Given the description of an element on the screen output the (x, y) to click on. 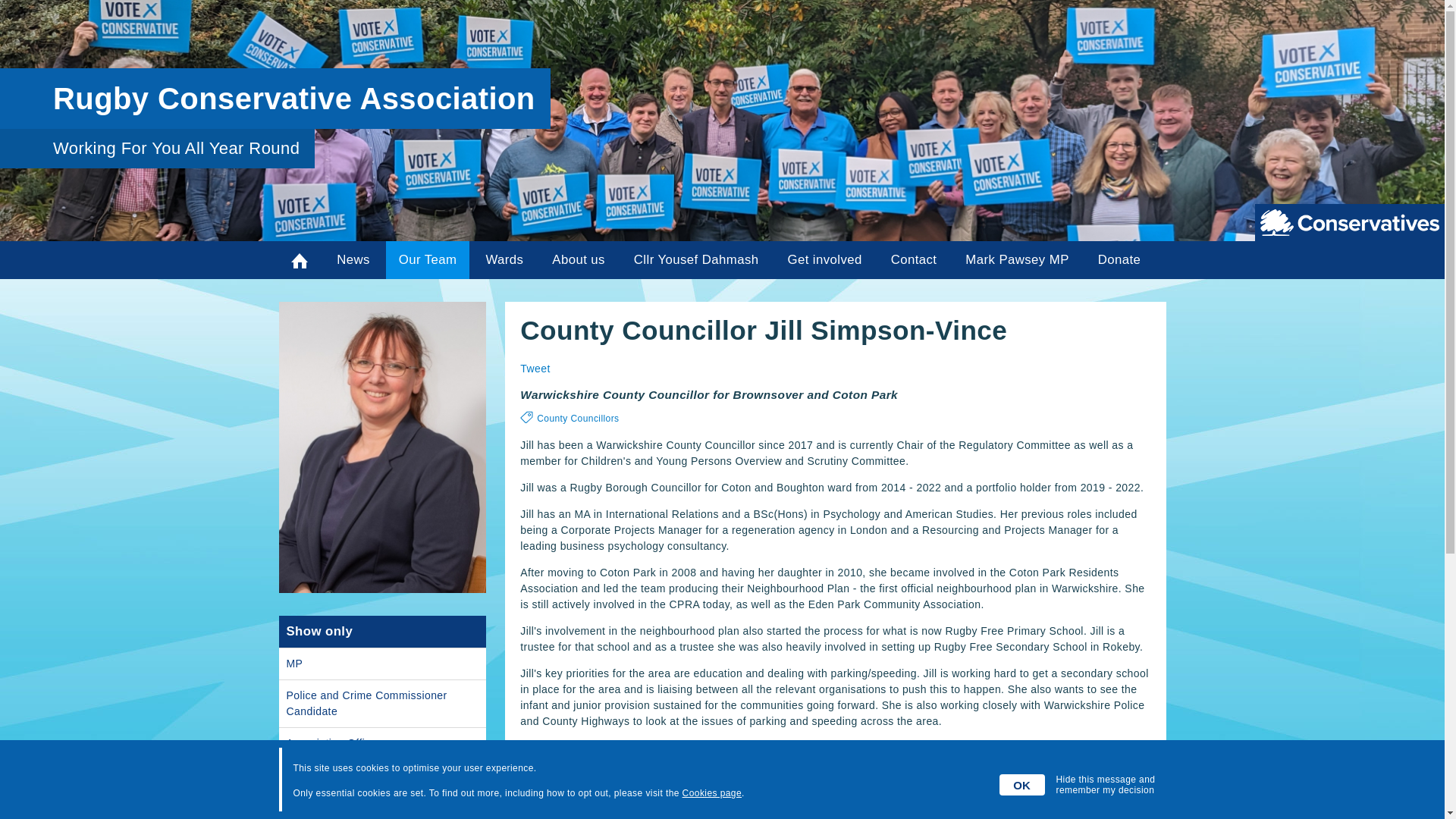
Borough Councillors (382, 805)
OK (1021, 784)
Cookies page (711, 792)
Wards (505, 259)
Home (300, 259)
Home (300, 259)
Ward News (505, 259)
Contact (913, 259)
Police and Crime Commissioner Candidate (382, 703)
News (352, 259)
About us (577, 259)
County Councillors (577, 418)
County Councillors (382, 775)
Cllr Yousef Dahmash (696, 259)
People (426, 259)
